Given the description of an element on the screen output the (x, y) to click on. 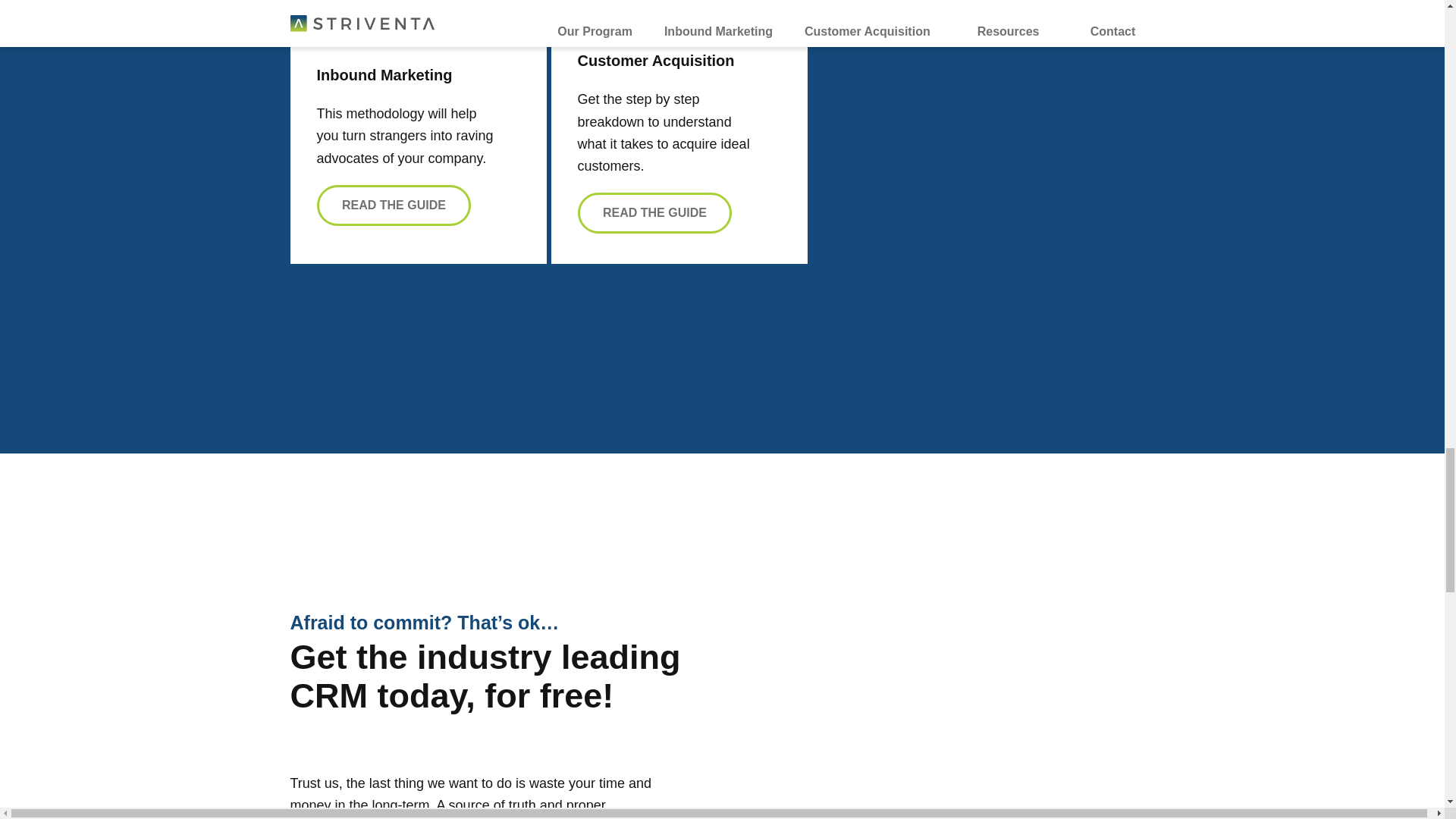
READ THE GUIDE (393, 205)
READ THE GUIDE (655, 212)
